Given the description of an element on the screen output the (x, y) to click on. 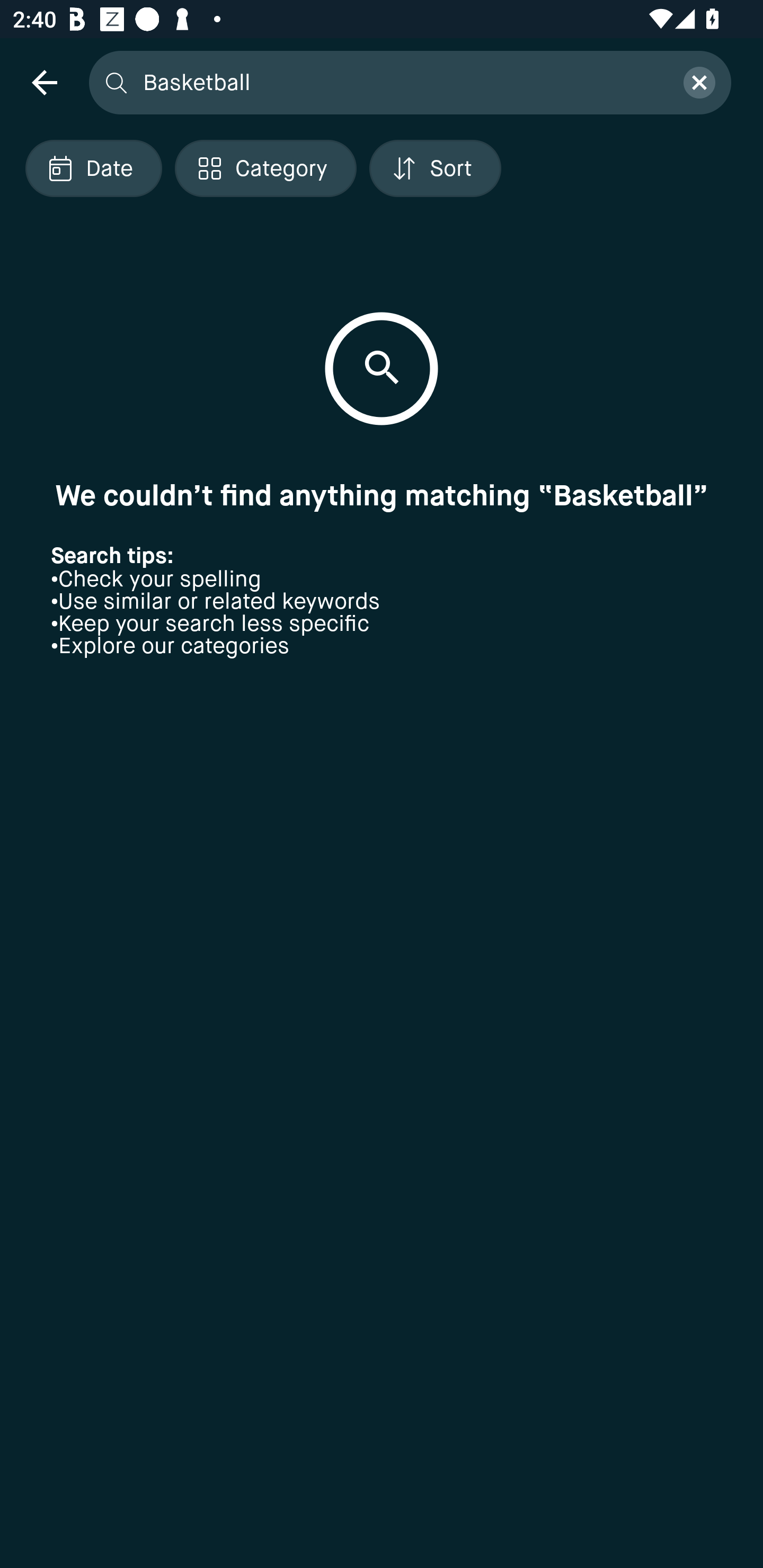
navigation icon (44, 81)
Basketball (402, 81)
Localized description Date (93, 168)
Localized description Category (265, 168)
Localized description Sort (435, 168)
We couldn’t find anything matching “Basketball” (381, 495)
